Given the description of an element on the screen output the (x, y) to click on. 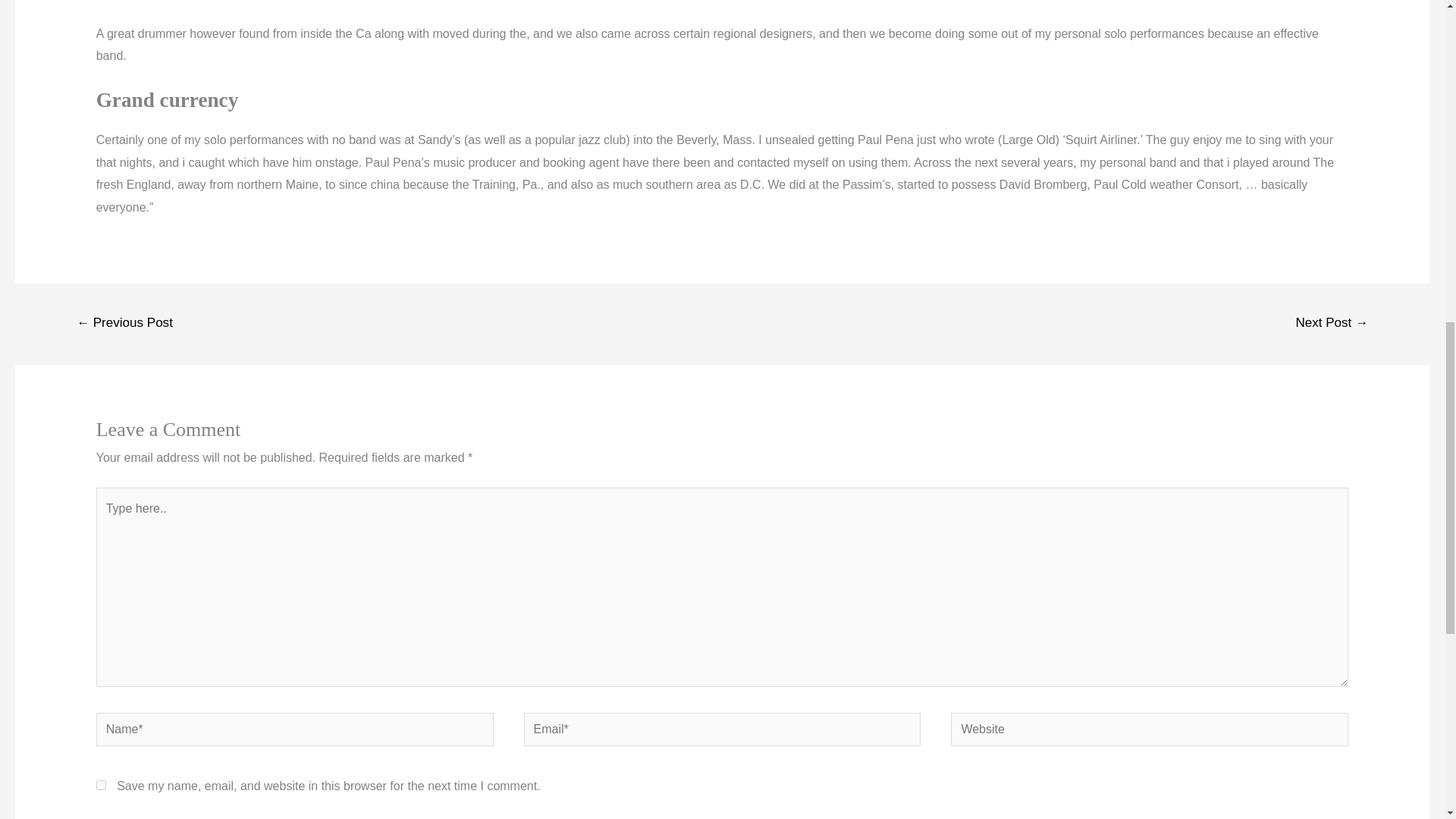
yes (101, 785)
